Given the description of an element on the screen output the (x, y) to click on. 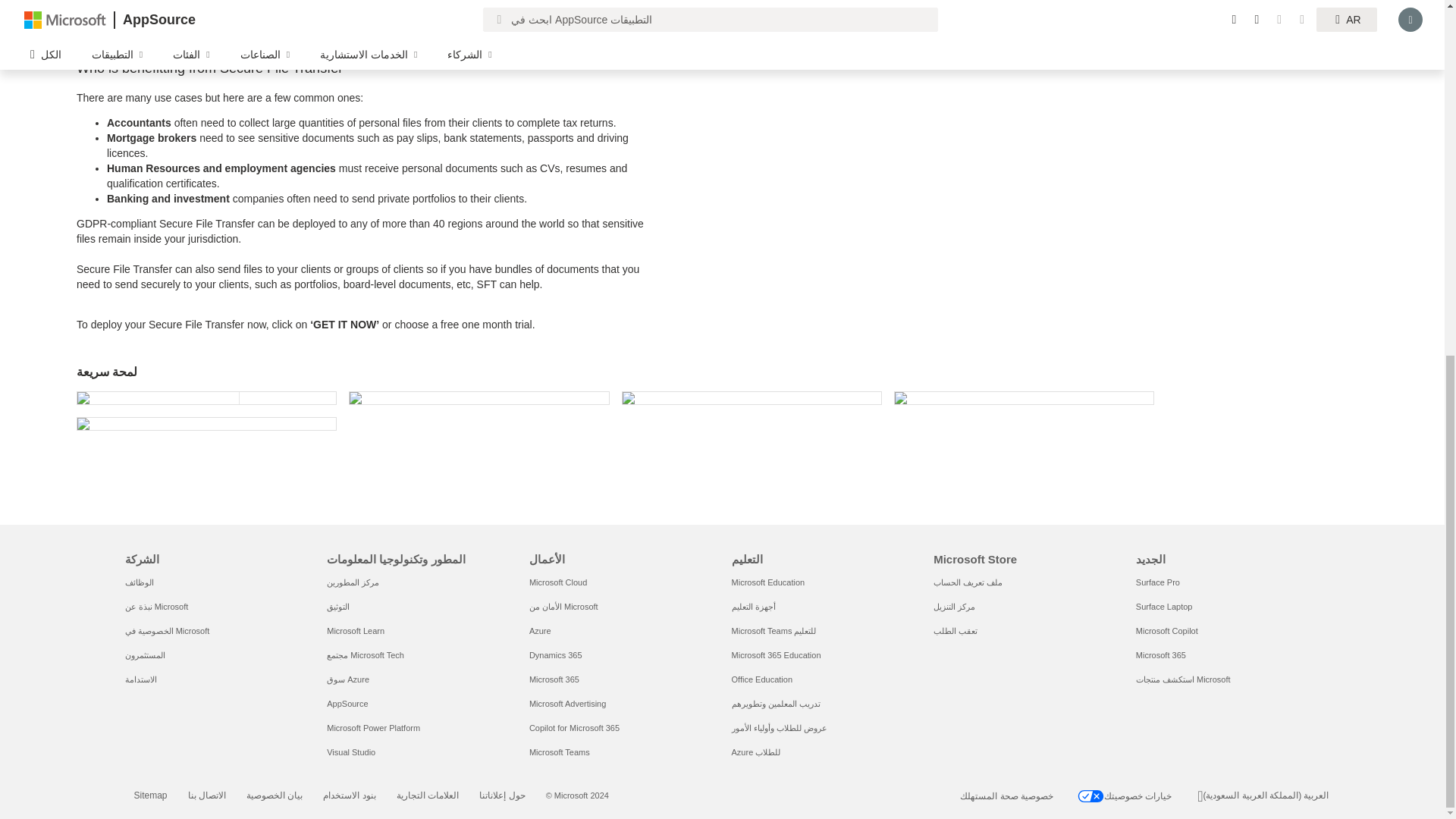
Surface Pro (1157, 582)
Microsoft Education (768, 582)
Microsoft 365 Education (776, 655)
Office Education (762, 678)
Microsoft 365 (1160, 655)
Surface Laptop (1163, 605)
Microsoft Copilot (1166, 630)
